Given the description of an element on the screen output the (x, y) to click on. 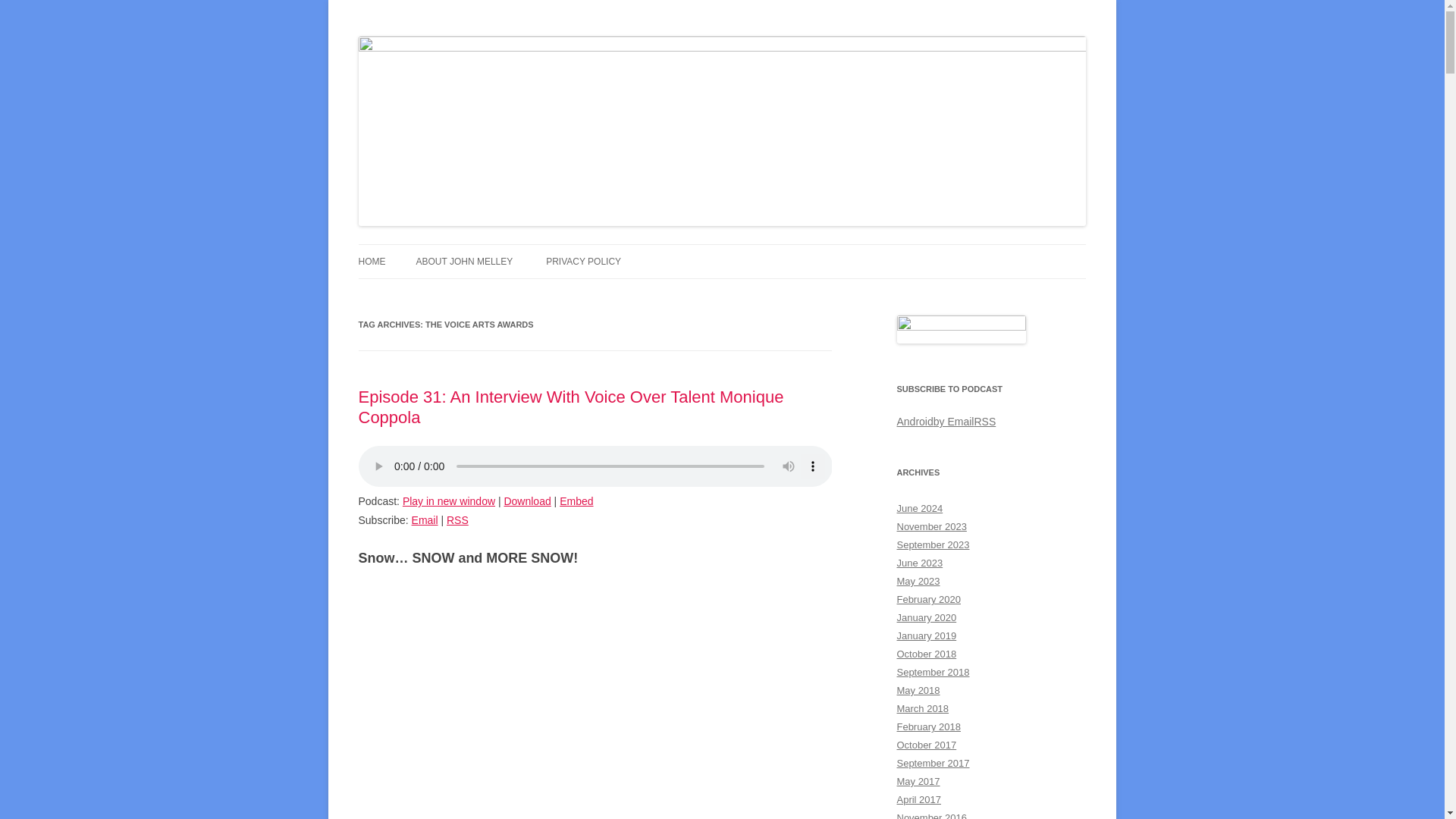
Play in new window (449, 500)
Voice Over Marketing Podcast (499, 36)
Play in new window (449, 500)
Embed (575, 500)
ABOUT JOHN MELLEY (463, 261)
Email (425, 520)
Download (526, 500)
RSS (457, 520)
Subscribe via RSS (457, 520)
Embed (575, 500)
Voice Over Marketing Podcast (499, 36)
Download (526, 500)
